Given the description of an element on the screen output the (x, y) to click on. 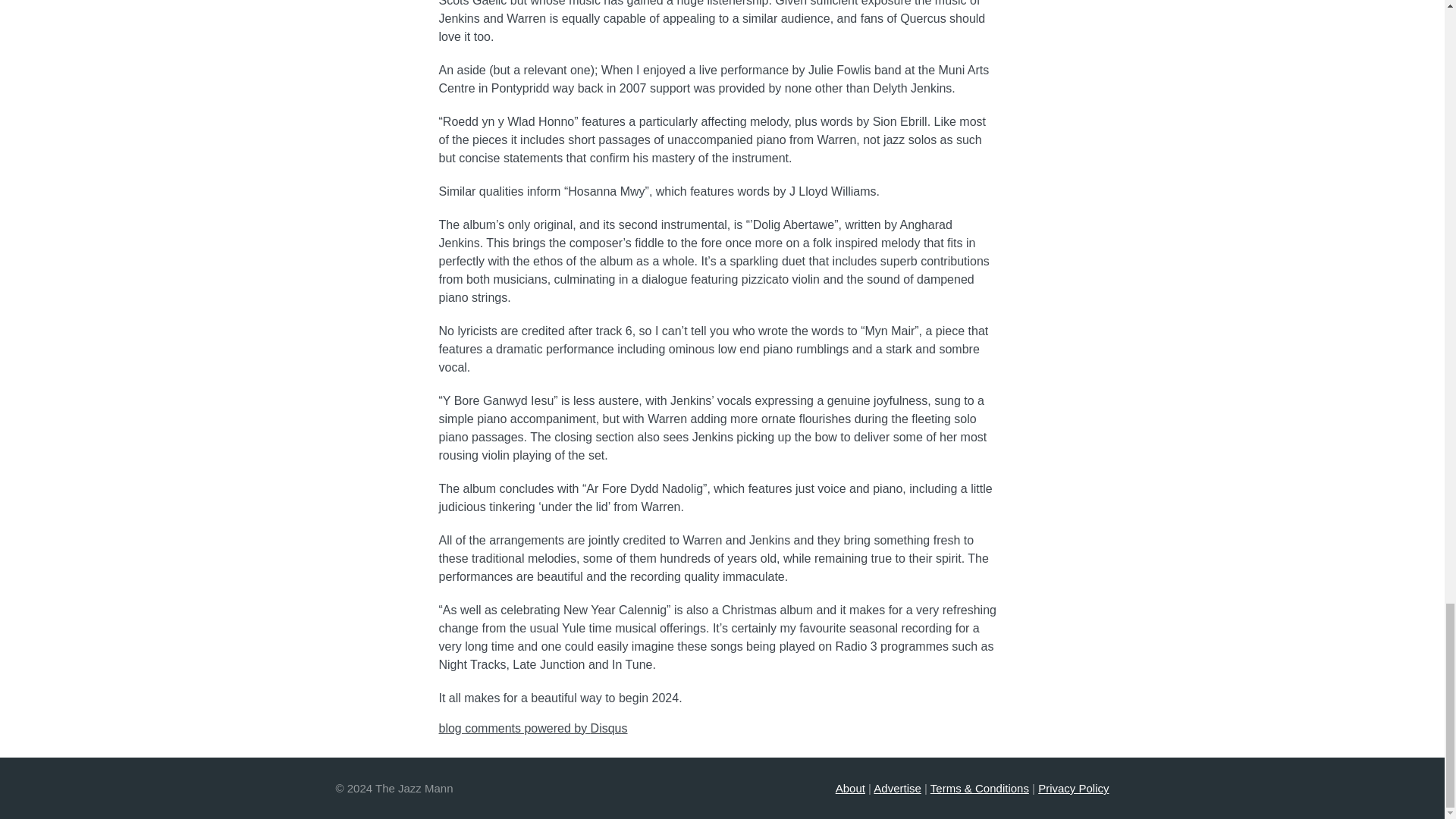
Advertise (897, 788)
blog comments powered by Disqus (532, 727)
Privacy Policy (1073, 788)
About (849, 788)
